Given the description of an element on the screen output the (x, y) to click on. 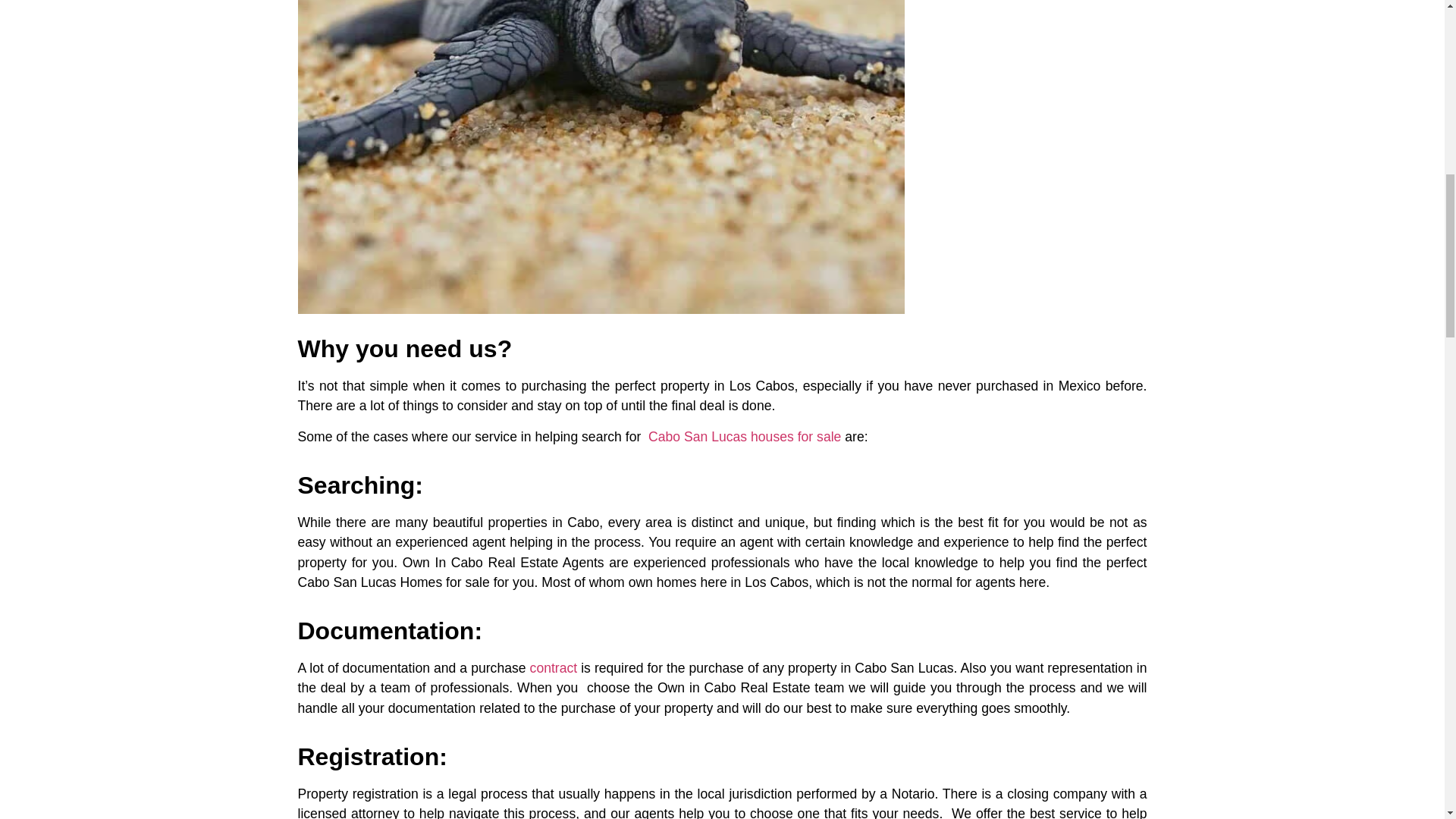
Cabo San Lucas houses for sale (744, 436)
contract (553, 667)
